Given the description of an element on the screen output the (x, y) to click on. 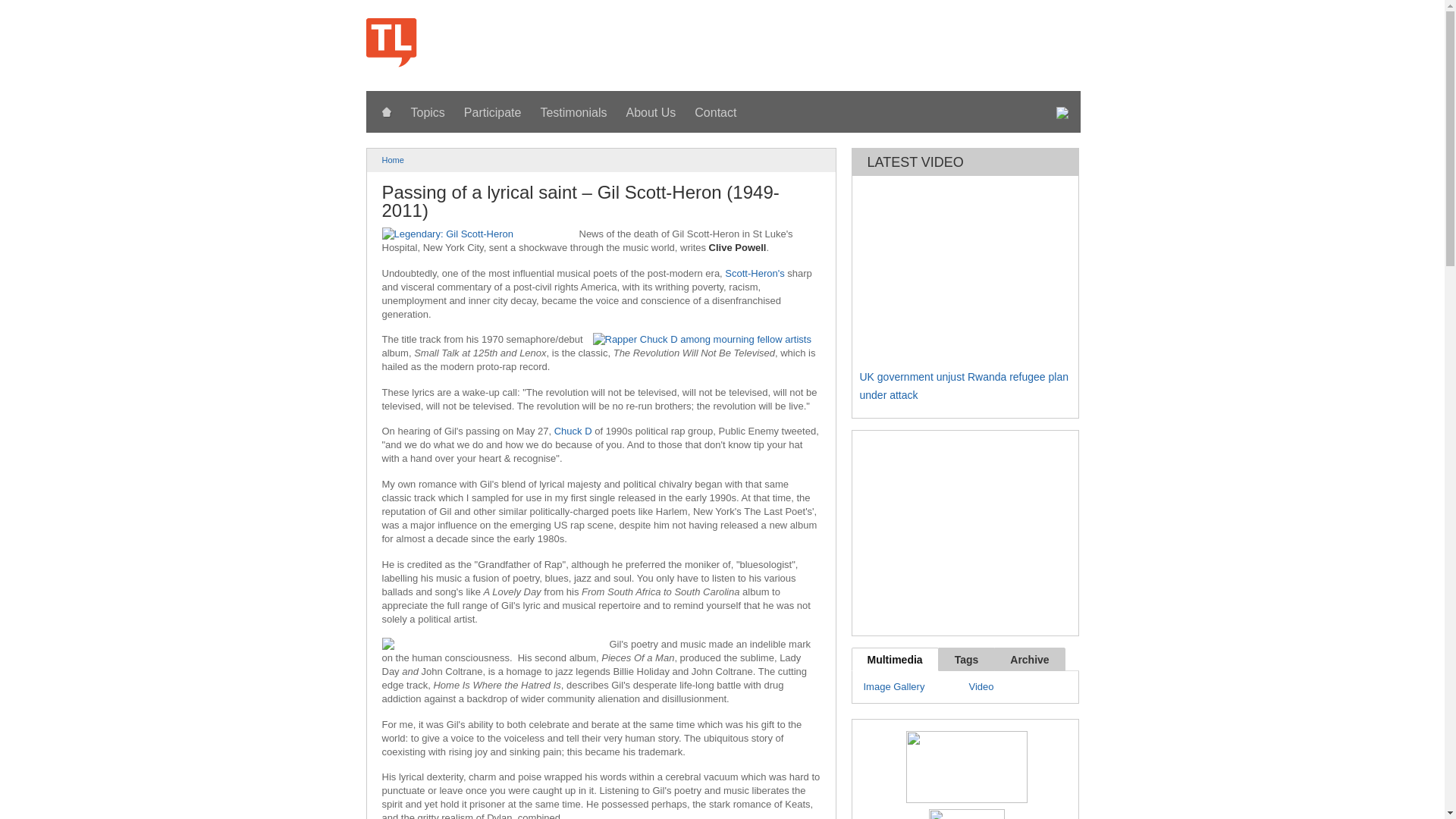
Contact (715, 112)
Topics (427, 112)
Testimonials (573, 112)
Log In (861, 27)
